Given the description of an element on the screen output the (x, y) to click on. 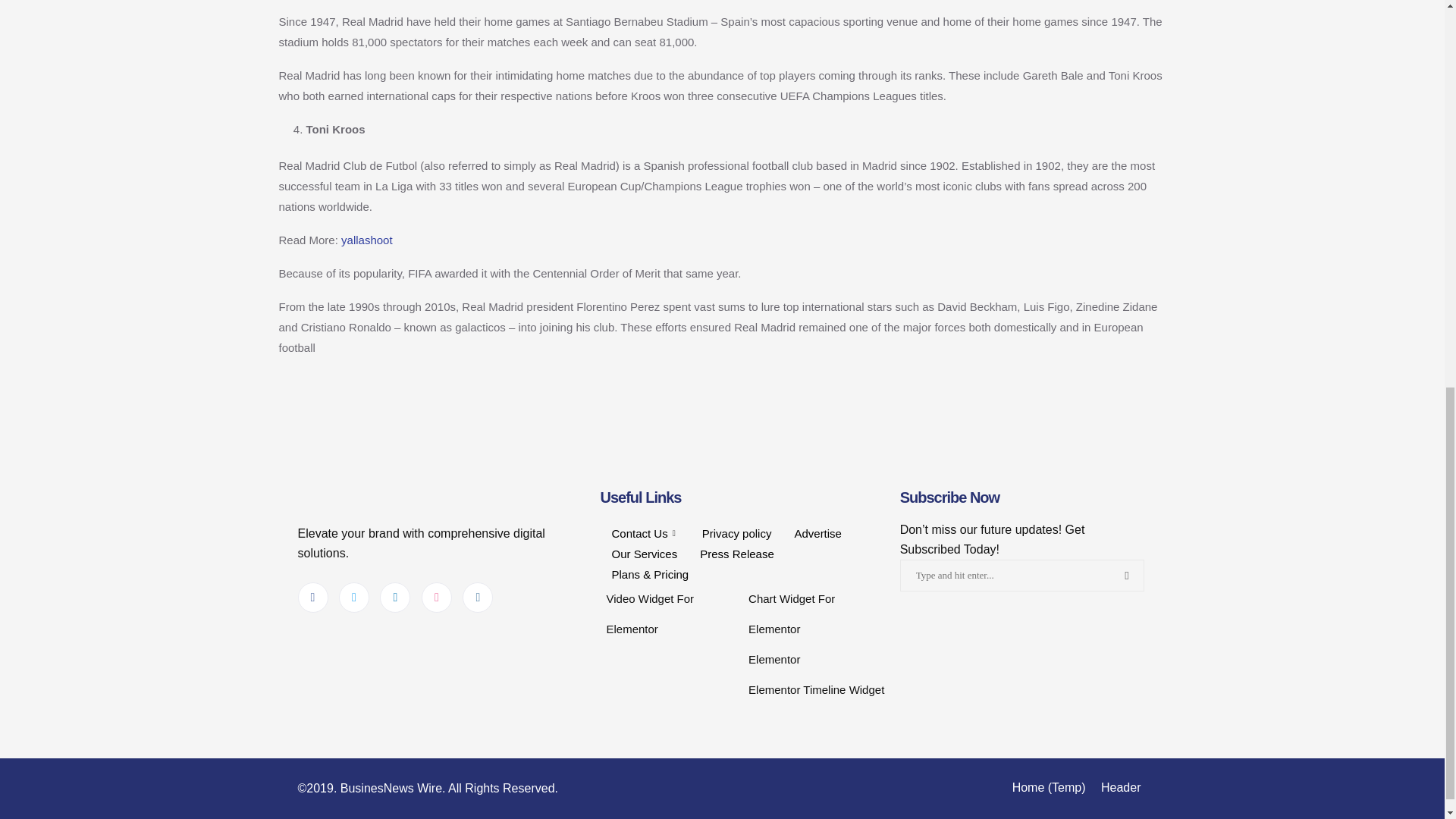
Our Services (643, 553)
yallashoot (366, 239)
Contact Us (644, 533)
Press Release (737, 553)
Advertise (818, 533)
Privacy policy (736, 533)
